Given the description of an element on the screen output the (x, y) to click on. 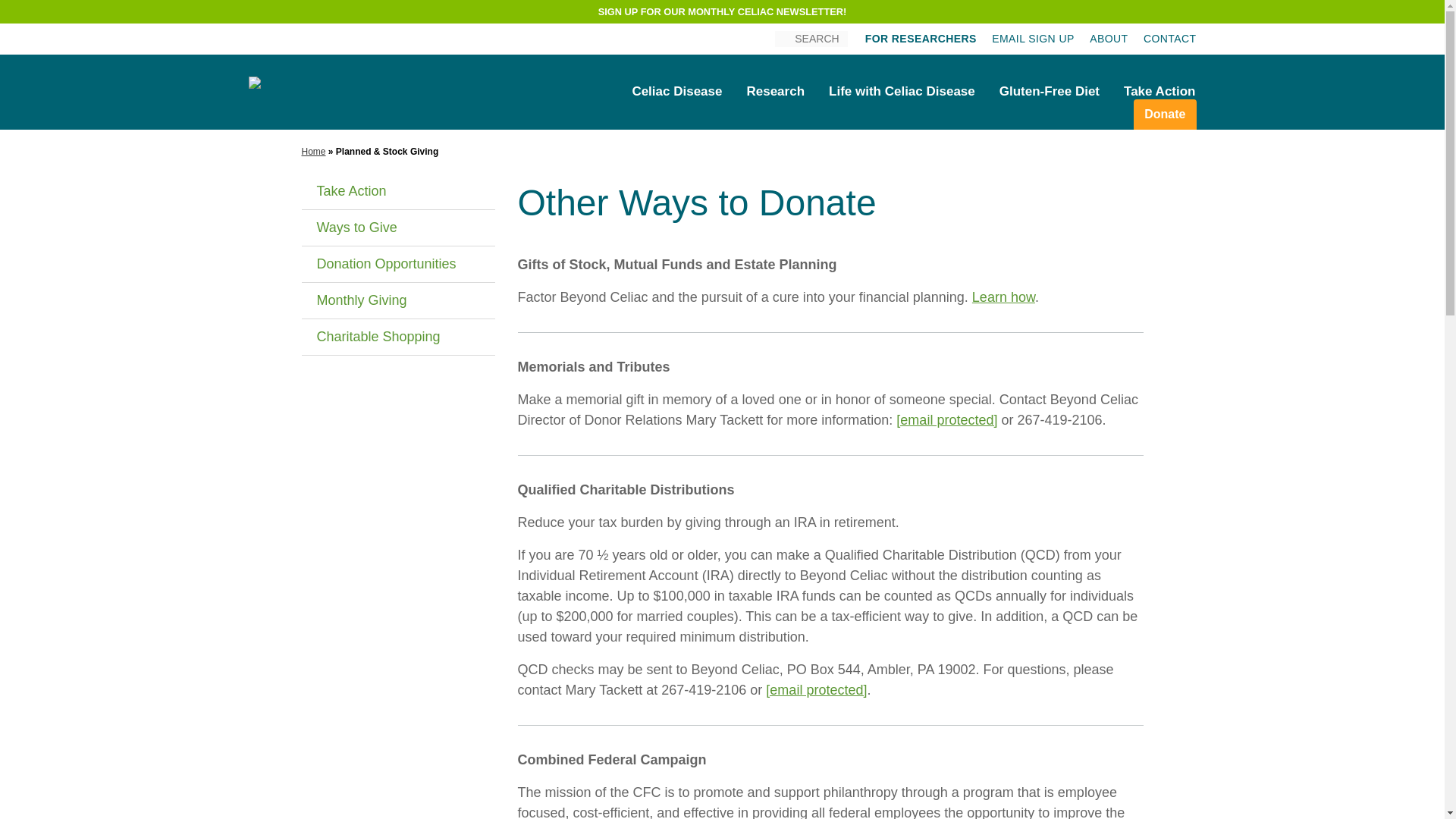
Research (774, 91)
CONTACT (1169, 38)
Celiac Disease (676, 91)
Life with Celiac Disease (901, 91)
Take Action (1159, 91)
FOR RESEARCHERS (920, 38)
ABOUT (1107, 38)
EMAIL SIGN UP (1032, 38)
Gluten-Free Diet (1049, 91)
